Given the description of an element on the screen output the (x, y) to click on. 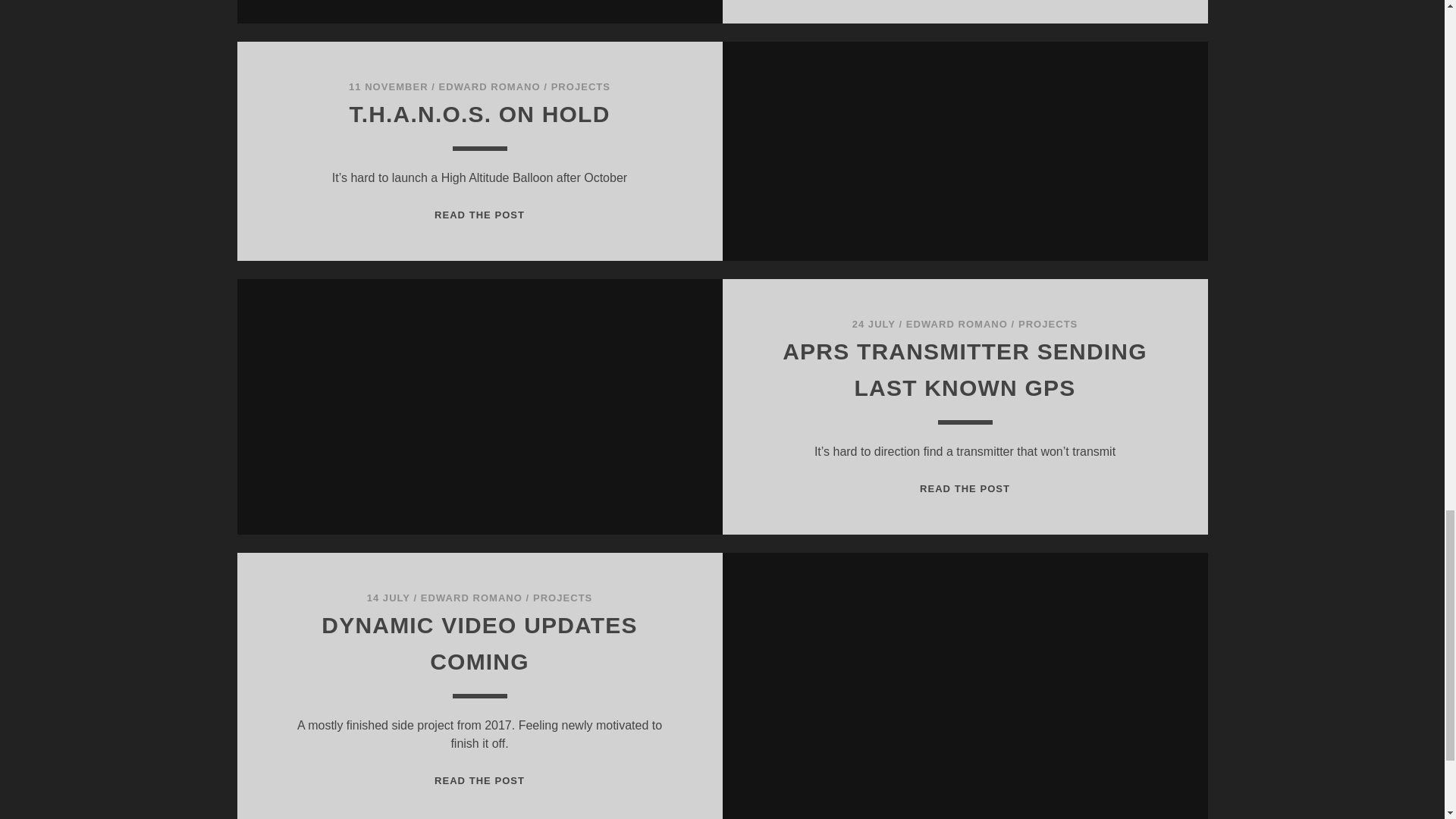
EDWARD ROMANO (489, 86)
Posts by Edward Romano (471, 597)
Posts by Edward Romano (956, 324)
Posts by Edward Romano (489, 86)
